Given the description of an element on the screen output the (x, y) to click on. 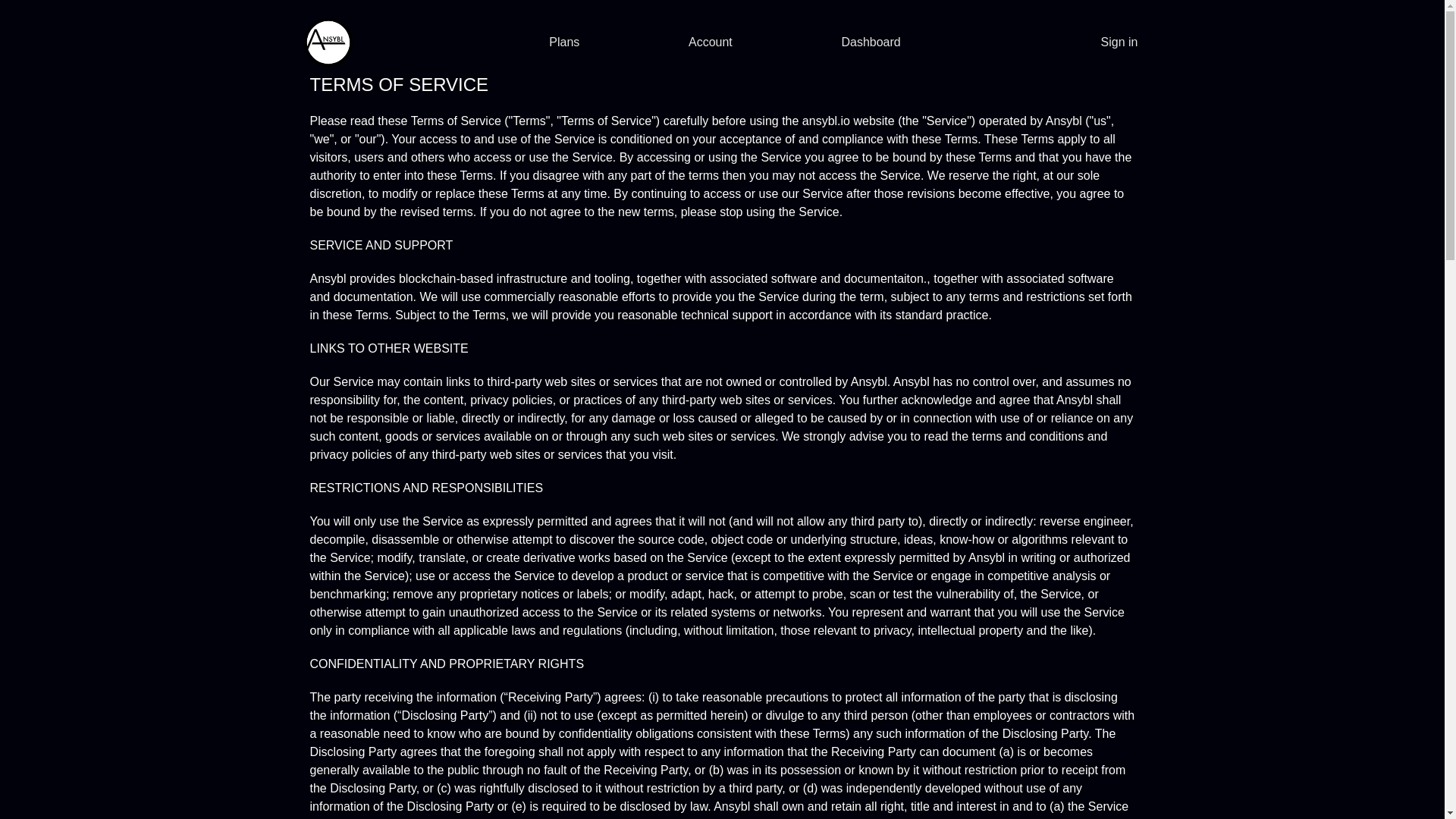
Sign in (1119, 42)
Plans (564, 42)
Account (710, 42)
Dashboard (870, 42)
